Given the description of an element on the screen output the (x, y) to click on. 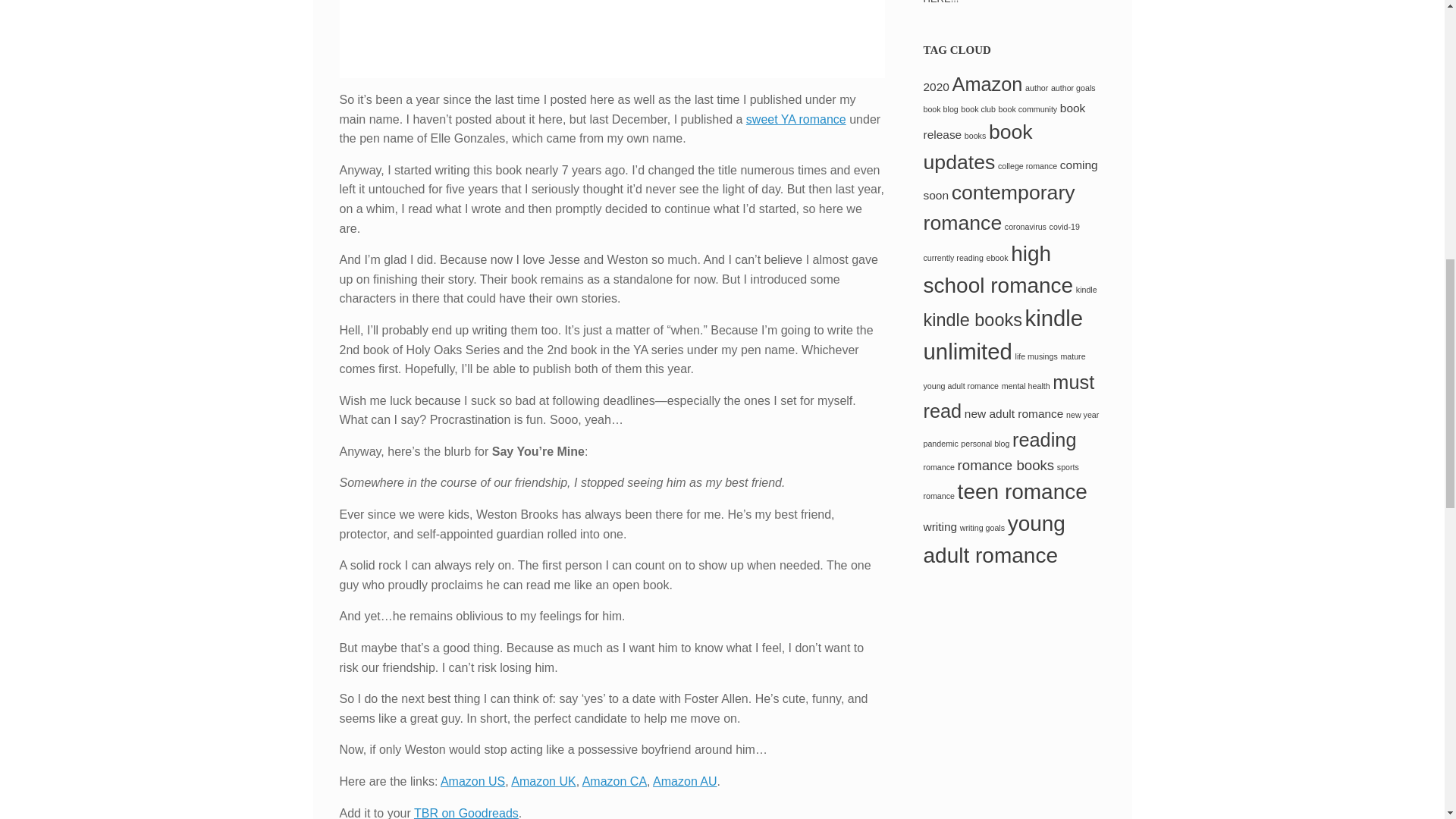
Amazon AU (684, 780)
Amazon UK (543, 780)
Amazon US (473, 780)
sweet YA romance (795, 119)
Amazon CA (614, 780)
TBR on Goodreads (465, 812)
